Given the description of an element on the screen output the (x, y) to click on. 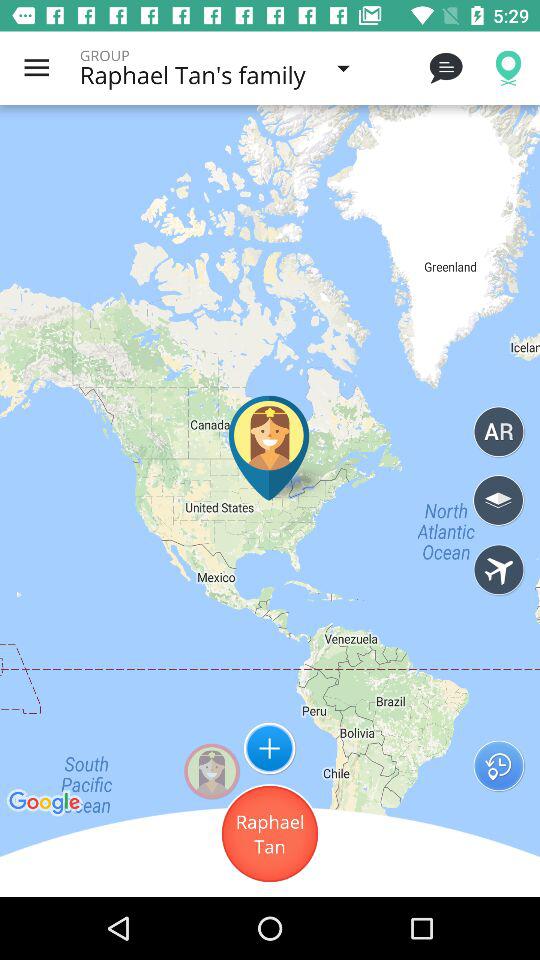
select the item next to the group icon (36, 68)
